Given the description of an element on the screen output the (x, y) to click on. 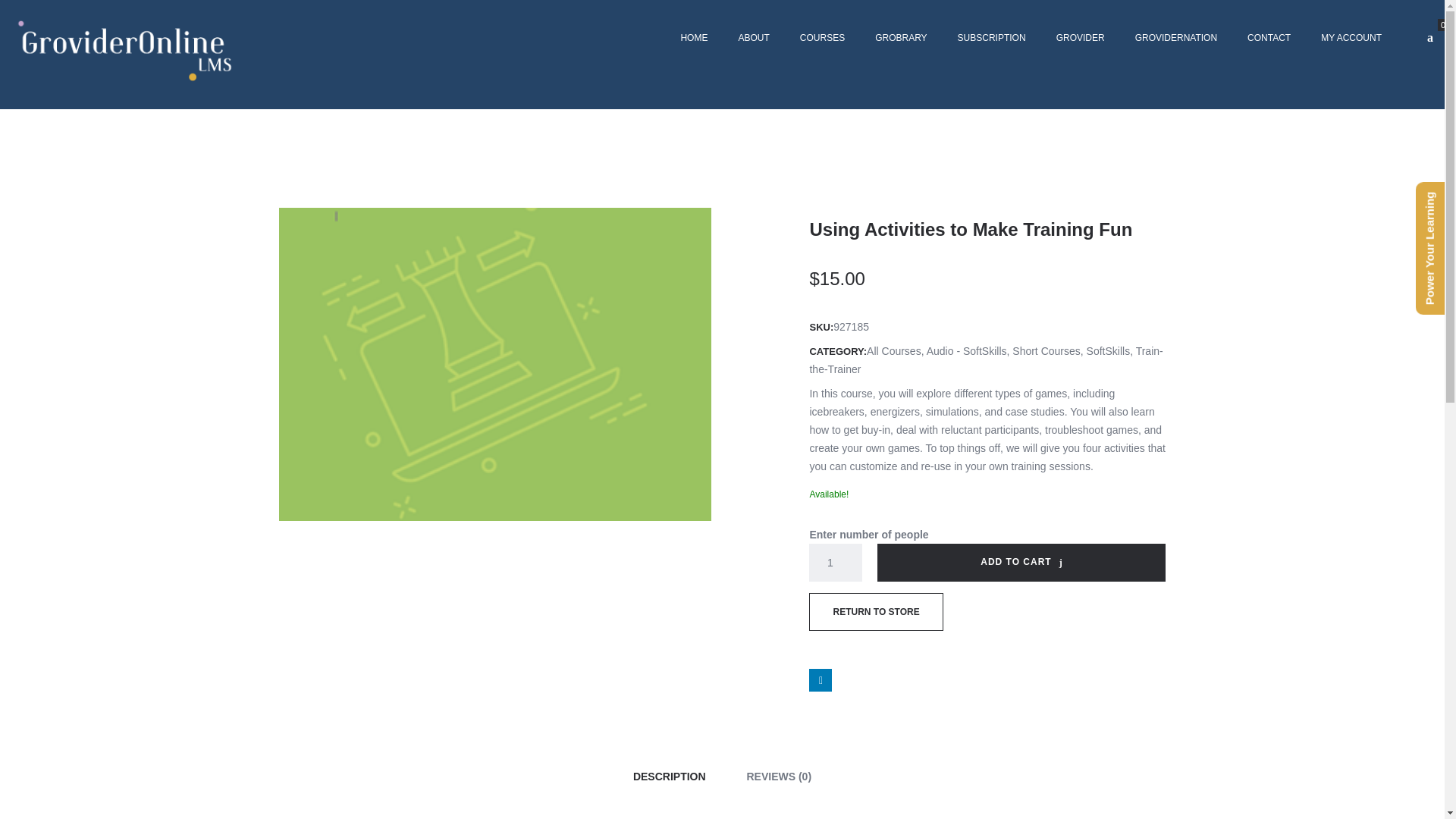
Train-the-Trainer (985, 359)
All Courses (893, 350)
Short Courses (1045, 350)
Using Activities to Make Training Fun (495, 363)
CONTACT (1268, 37)
HOME (693, 37)
ABOUT (753, 37)
GROVIDER (1080, 37)
MY ACCOUNT (1351, 37)
GROVIDERNATION (1175, 37)
GROBRARY (901, 37)
RETURN TO STORE (875, 611)
SUBSCRIPTION (991, 37)
1 (835, 562)
Audio - SoftSkills (966, 350)
